Given the description of an element on the screen output the (x, y) to click on. 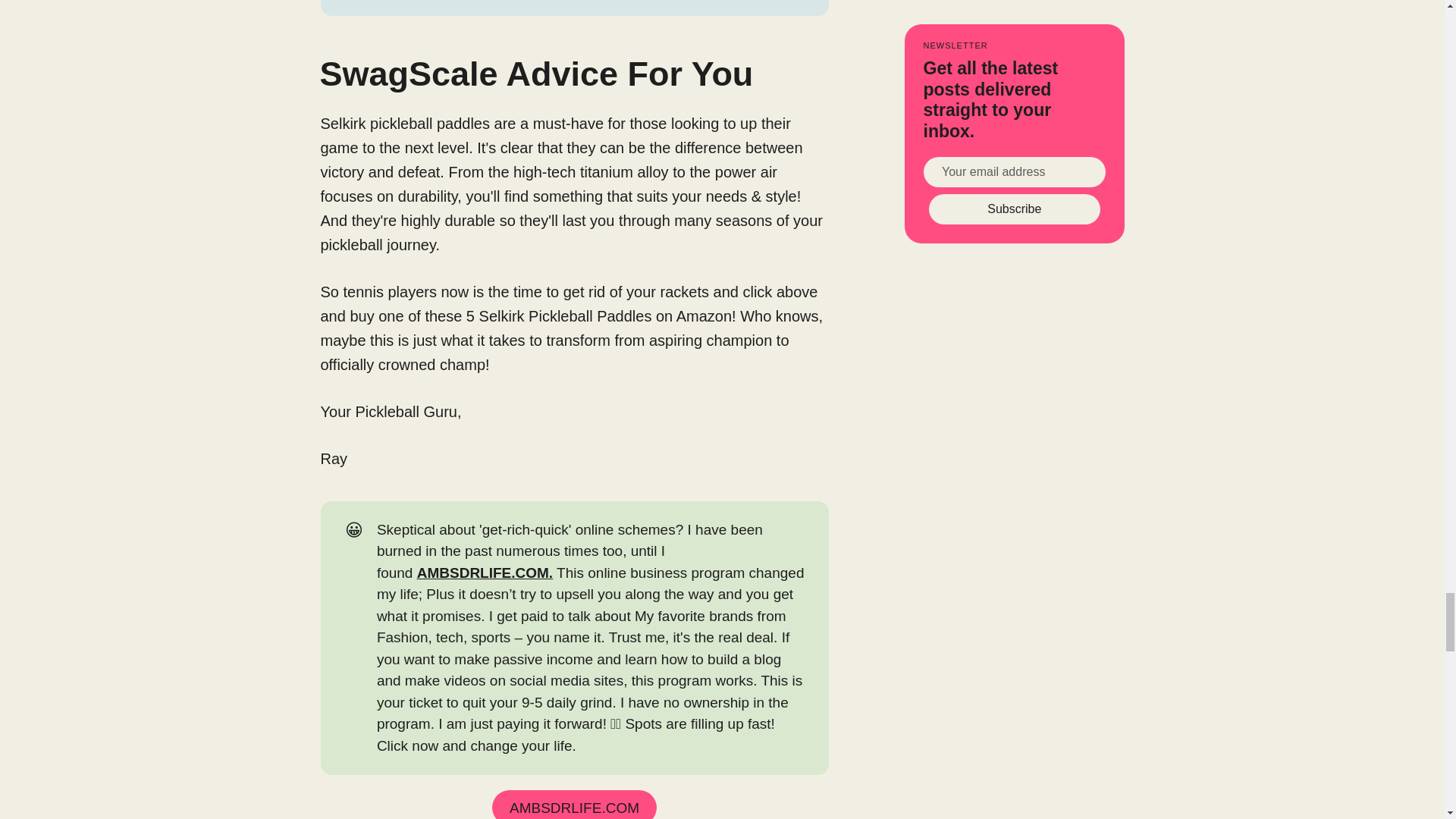
AMBSDRLIFE.COM (574, 804)
AMBSDRLIFE.COM. (484, 572)
